Given the description of an element on the screen output the (x, y) to click on. 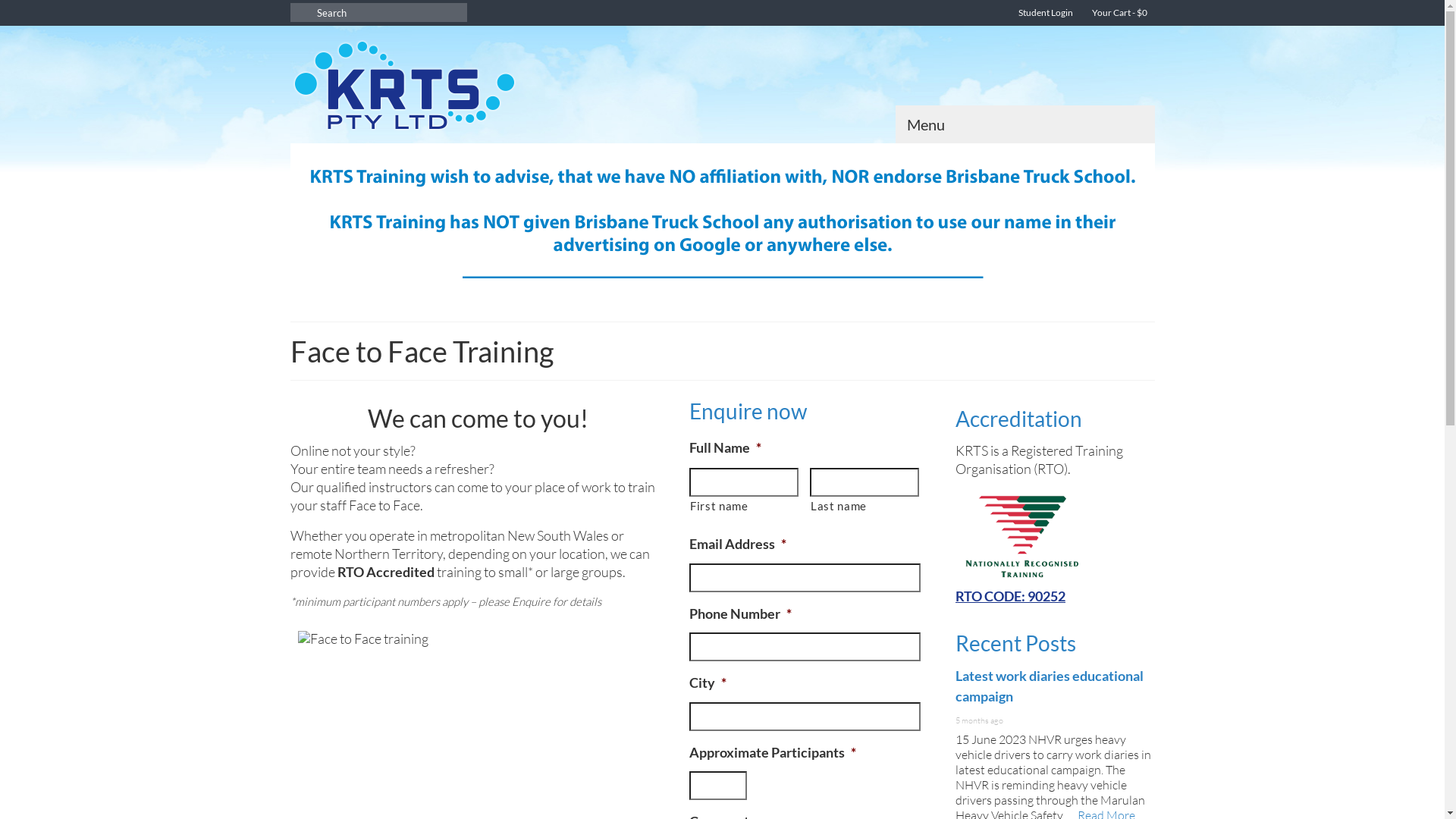
RTO CODE: 90252 Element type: text (1054, 544)
Recent Posts Element type: text (1015, 642)
Your Cart - $0 Element type: text (1116, 12)
Student Login Element type: text (1043, 12)
Latest work diaries educational campaign Element type: text (1049, 685)
Menu Element type: text (1024, 124)
